Given the description of an element on the screen output the (x, y) to click on. 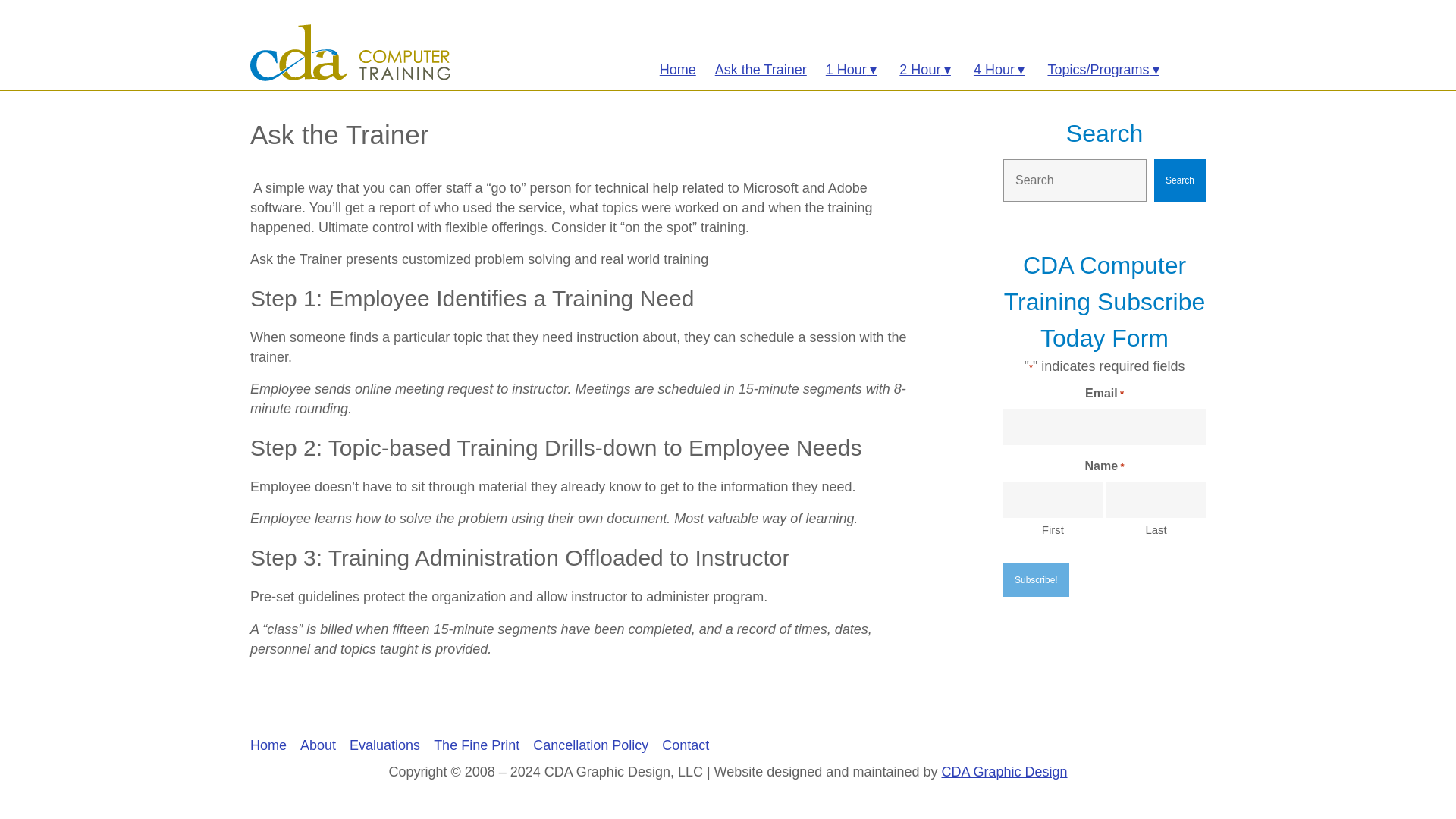
Search (1179, 179)
Subscribe! (1035, 579)
CDA Graphic Design (1003, 771)
CDA Computer Training (349, 52)
Ask the Trainer (760, 60)
Subscribe! (1035, 579)
CDA Computer Training (349, 52)
